Given the description of an element on the screen output the (x, y) to click on. 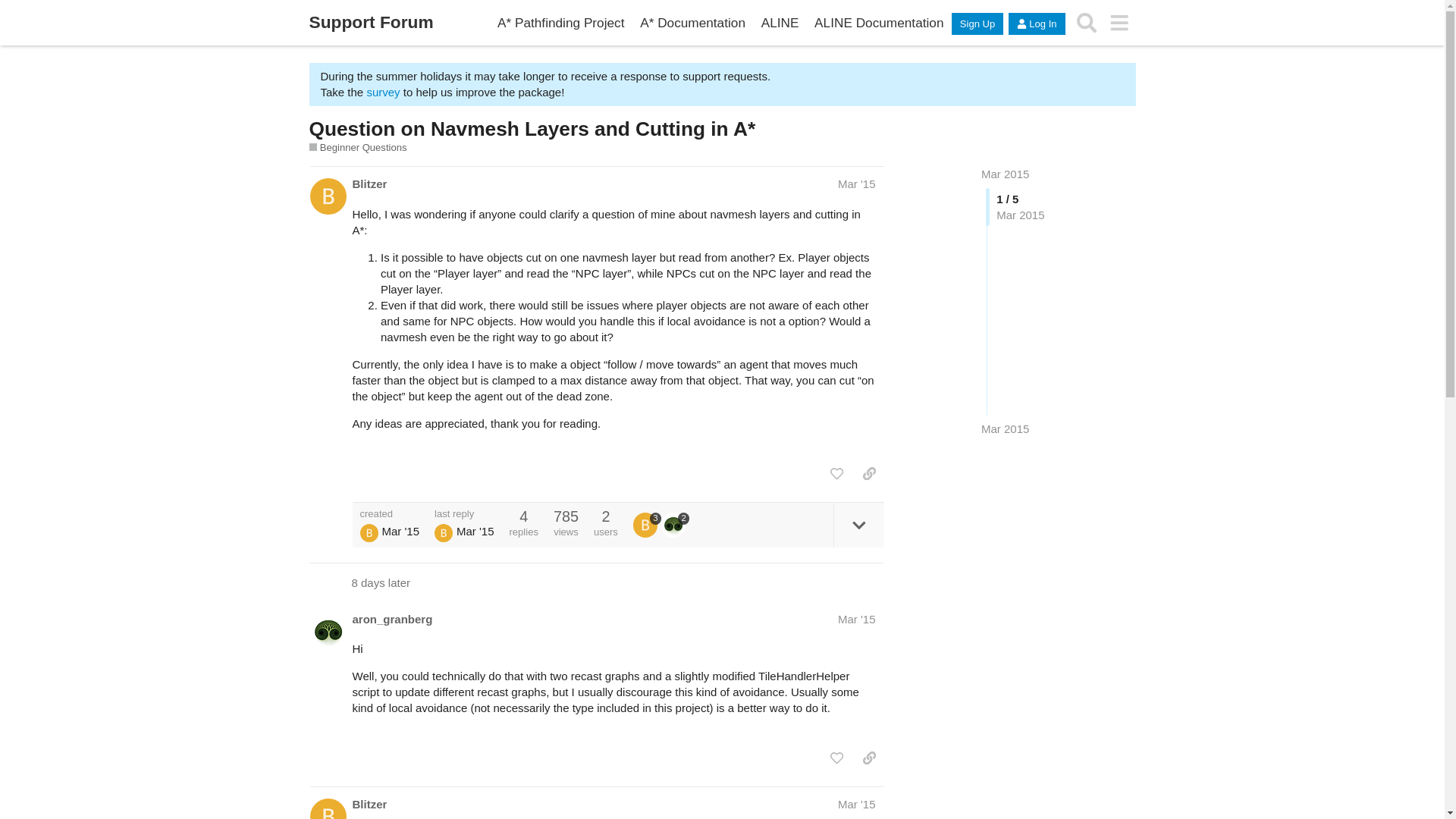
2 (674, 524)
Sign Up (977, 24)
Gpguyperson (368, 532)
Mar '15 (857, 183)
Blitzer (369, 183)
Mar 13, 2015 6:46 pm (1005, 428)
Just started with the project and have a simple question? (357, 147)
ALINE (779, 22)
ALINE Documentation (879, 22)
Search (1086, 22)
Mar '15 (857, 618)
Gpguyperson (442, 532)
menu (1119, 22)
Blitzer (369, 804)
Post date (857, 183)
